Given the description of an element on the screen output the (x, y) to click on. 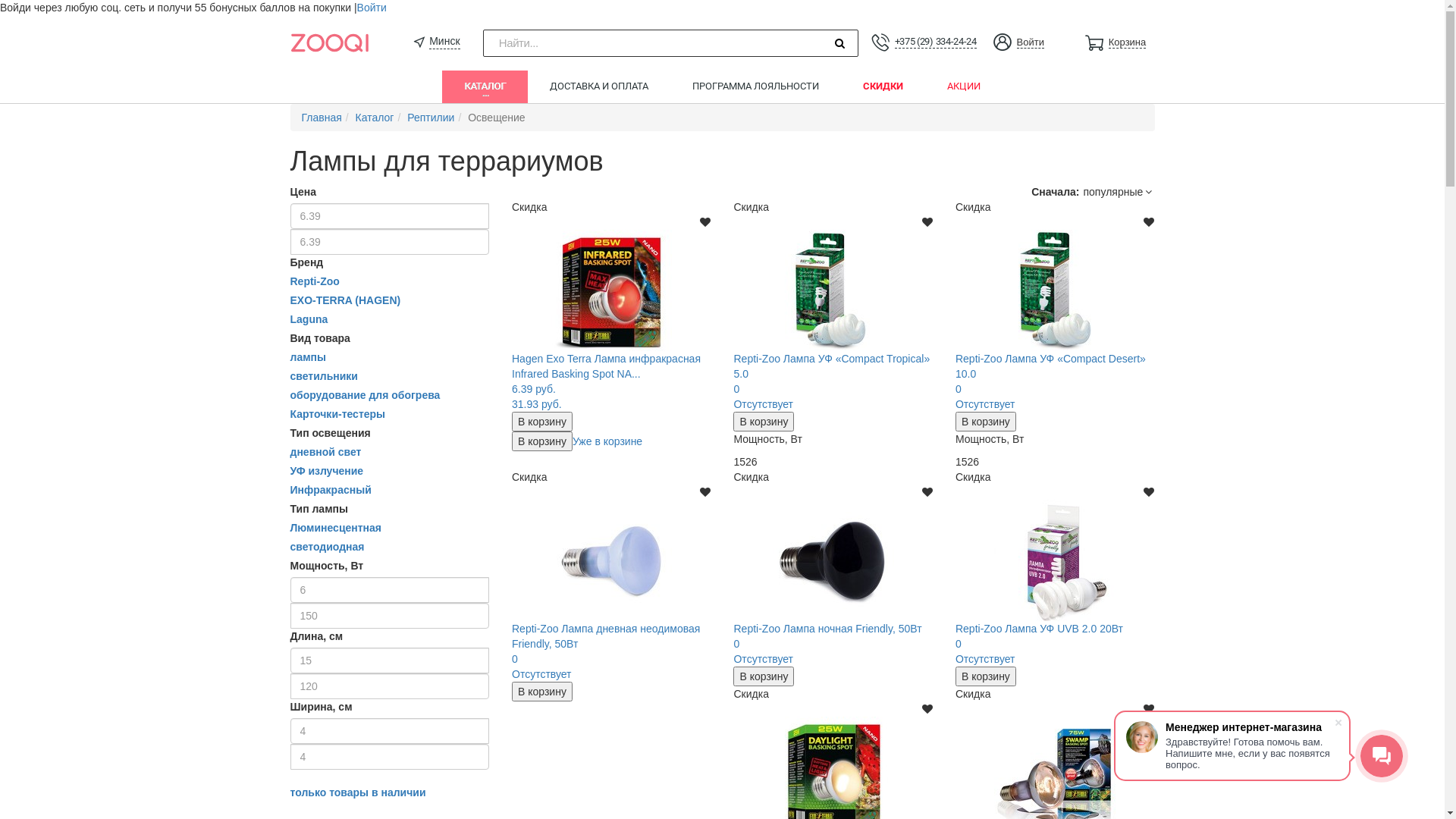
+375 (29) 334-24-24 Element type: text (935, 41)
Repti-Zoo Element type: text (313, 281)
Laguna Element type: text (308, 319)
EXO-TERRA (HAGEN) Element type: text (344, 300)
